Given the description of an element on the screen output the (x, y) to click on. 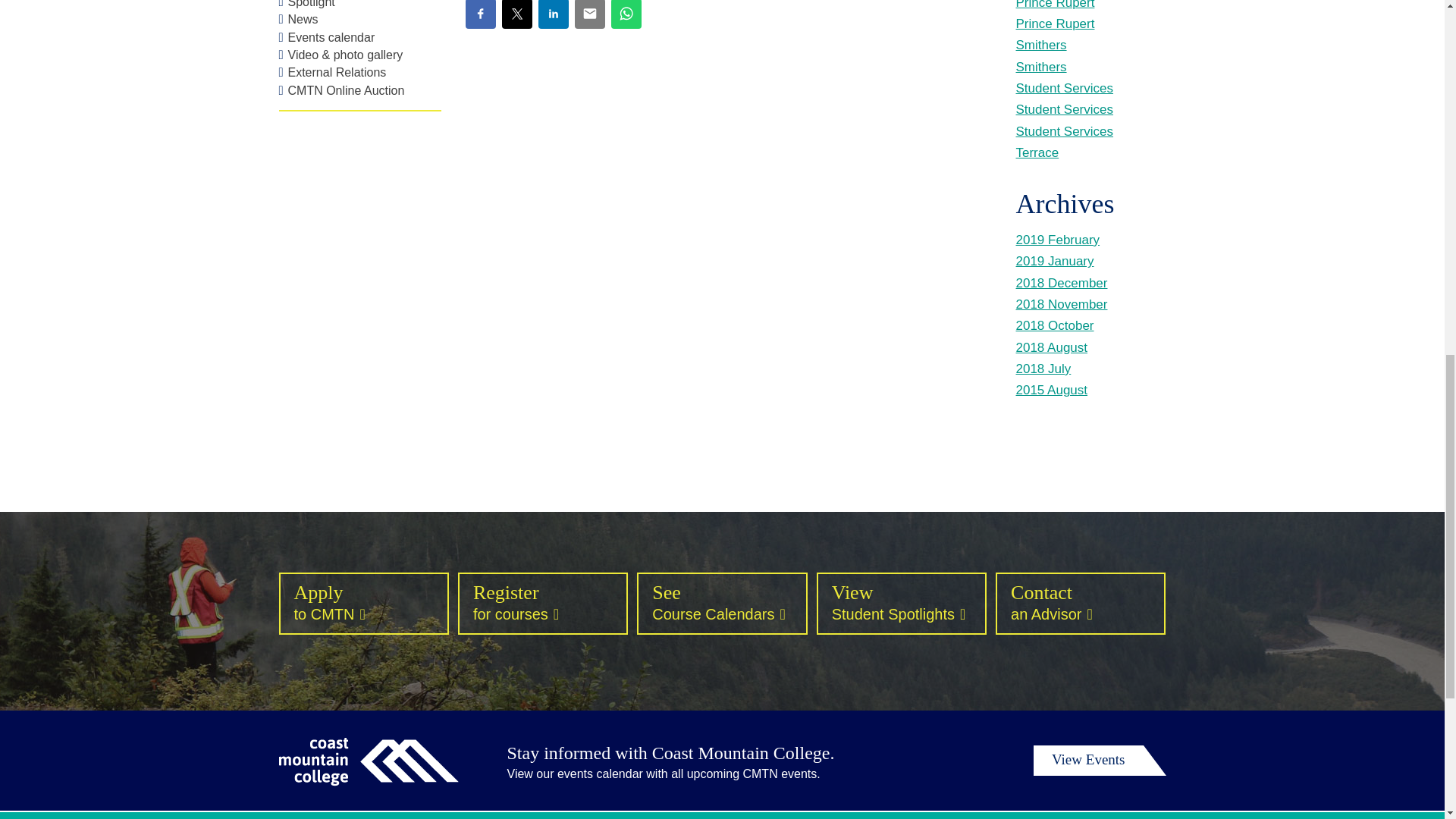
footer-logo (368, 761)
